Given the description of an element on the screen output the (x, y) to click on. 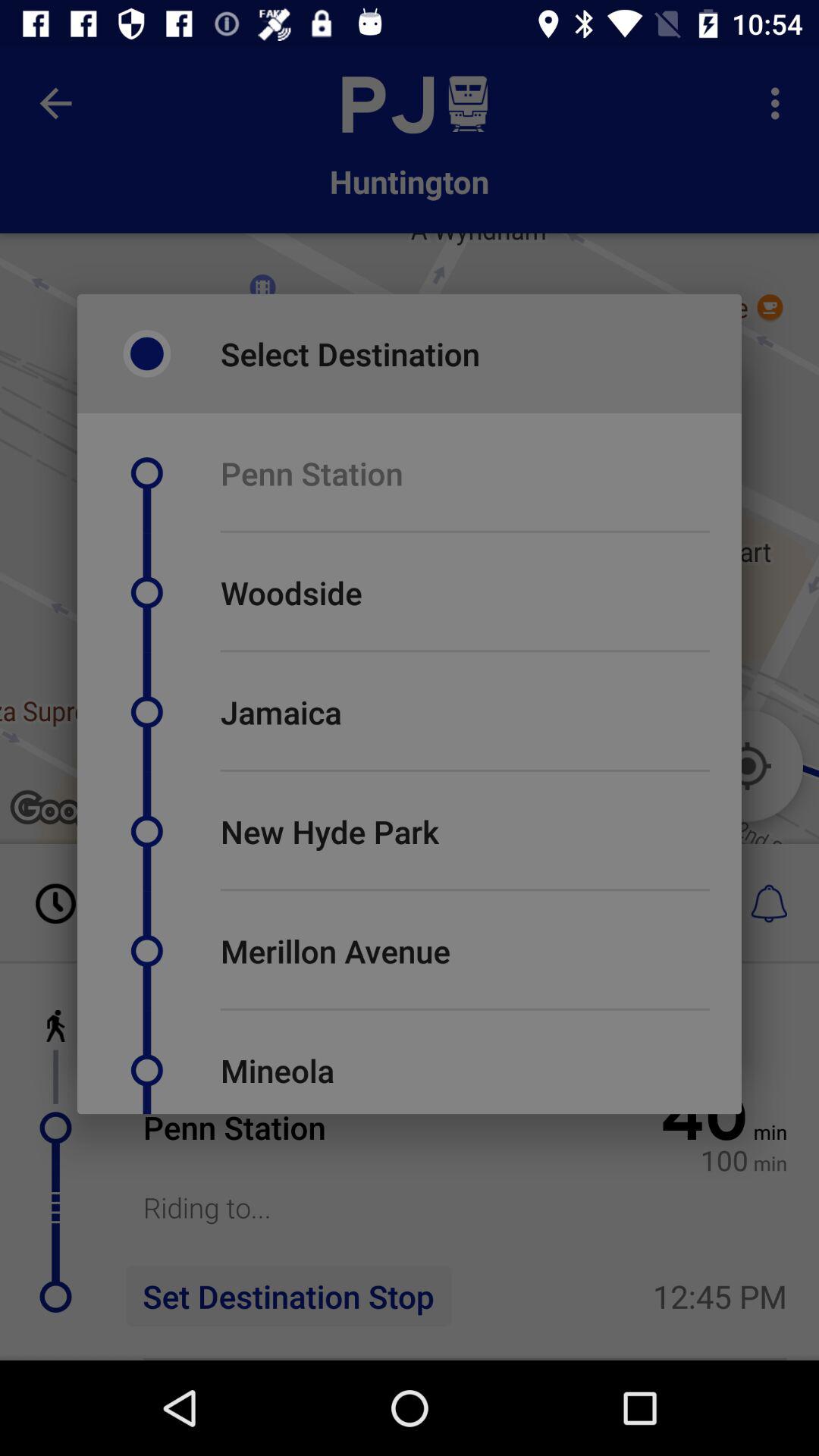
launch the mineola (277, 1070)
